Given the description of an element on the screen output the (x, y) to click on. 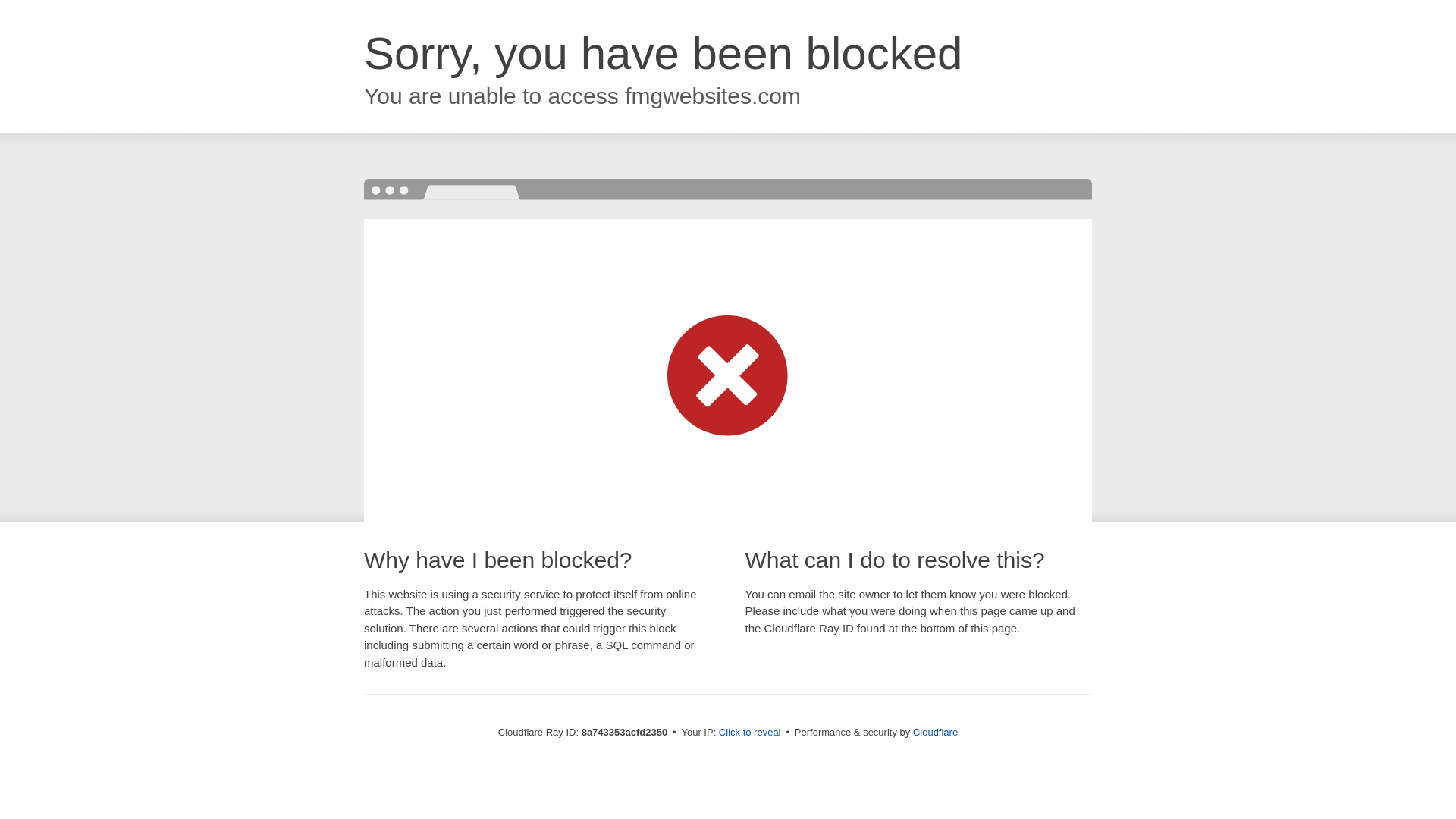
Cloudflare (935, 731)
Click to reveal (749, 732)
